Given the description of an element on the screen output the (x, y) to click on. 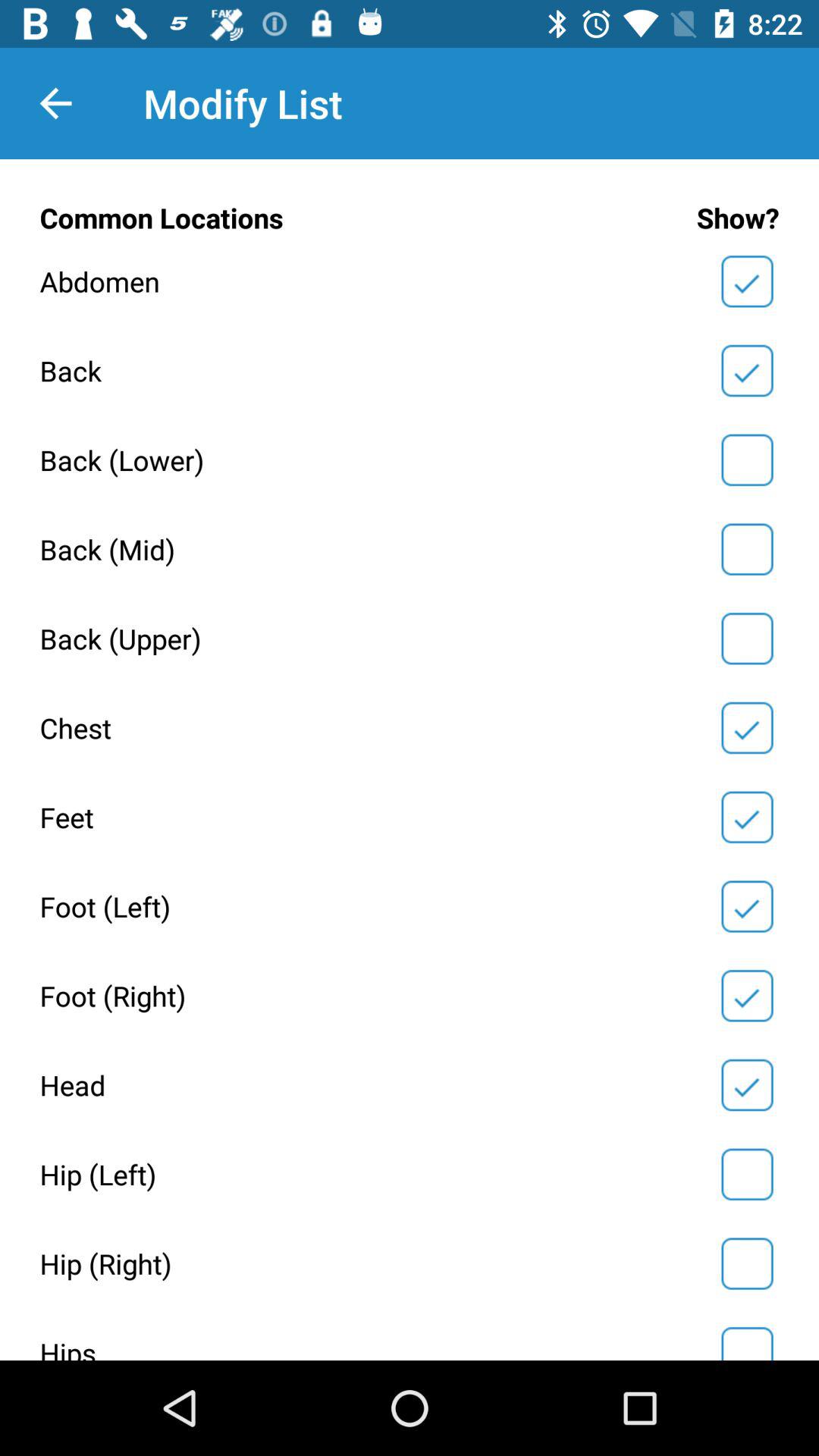
toggle option (747, 906)
